Given the description of an element on the screen output the (x, y) to click on. 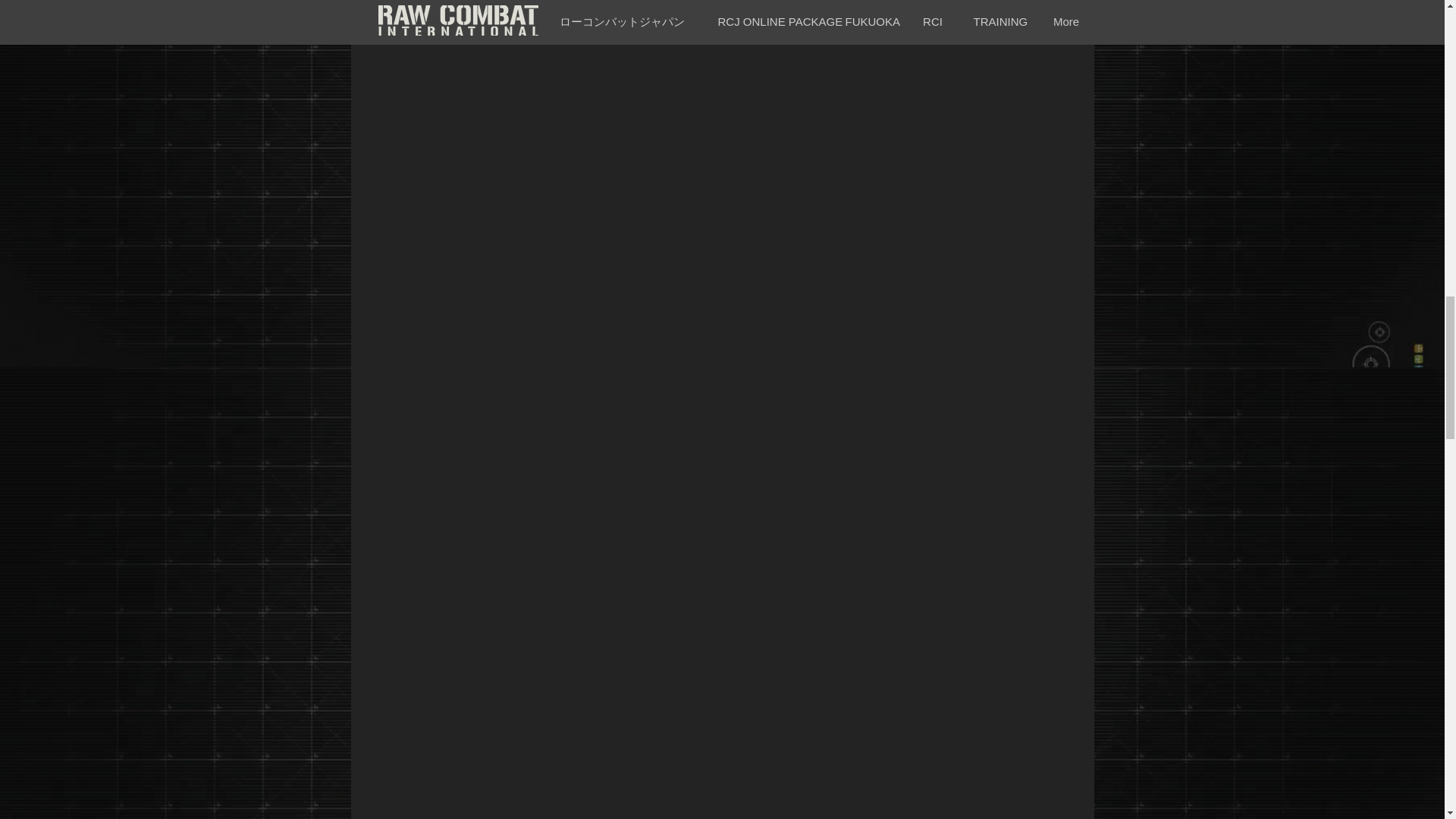
External YouTube (742, 126)
External YouTube (746, 713)
